Given the description of an element on the screen output the (x, y) to click on. 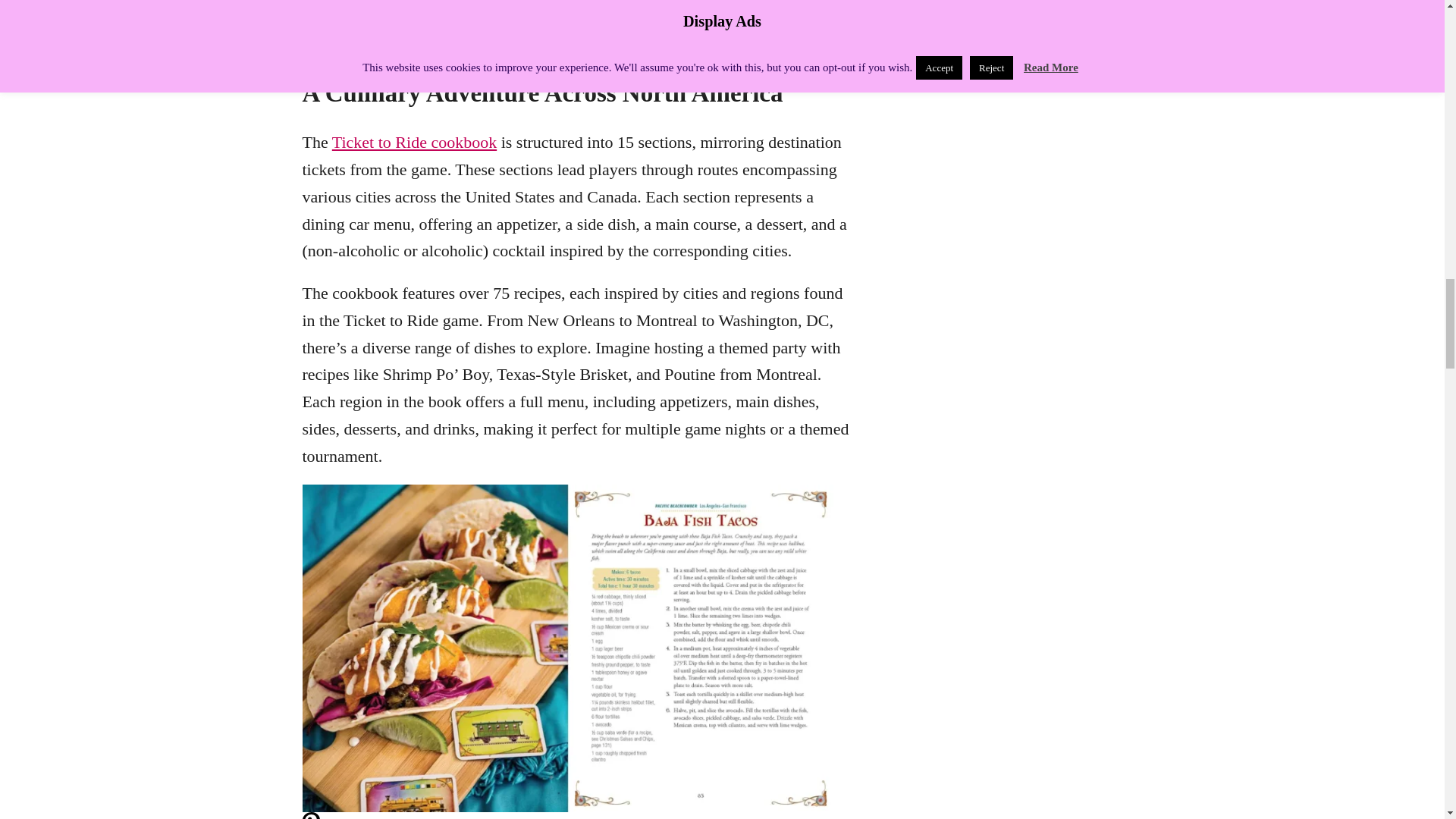
Ticket to Ride cookbook (413, 141)
ticket to ride tomahawk steak (566, 12)
Pin Me! (309, 44)
